Given the description of an element on the screen output the (x, y) to click on. 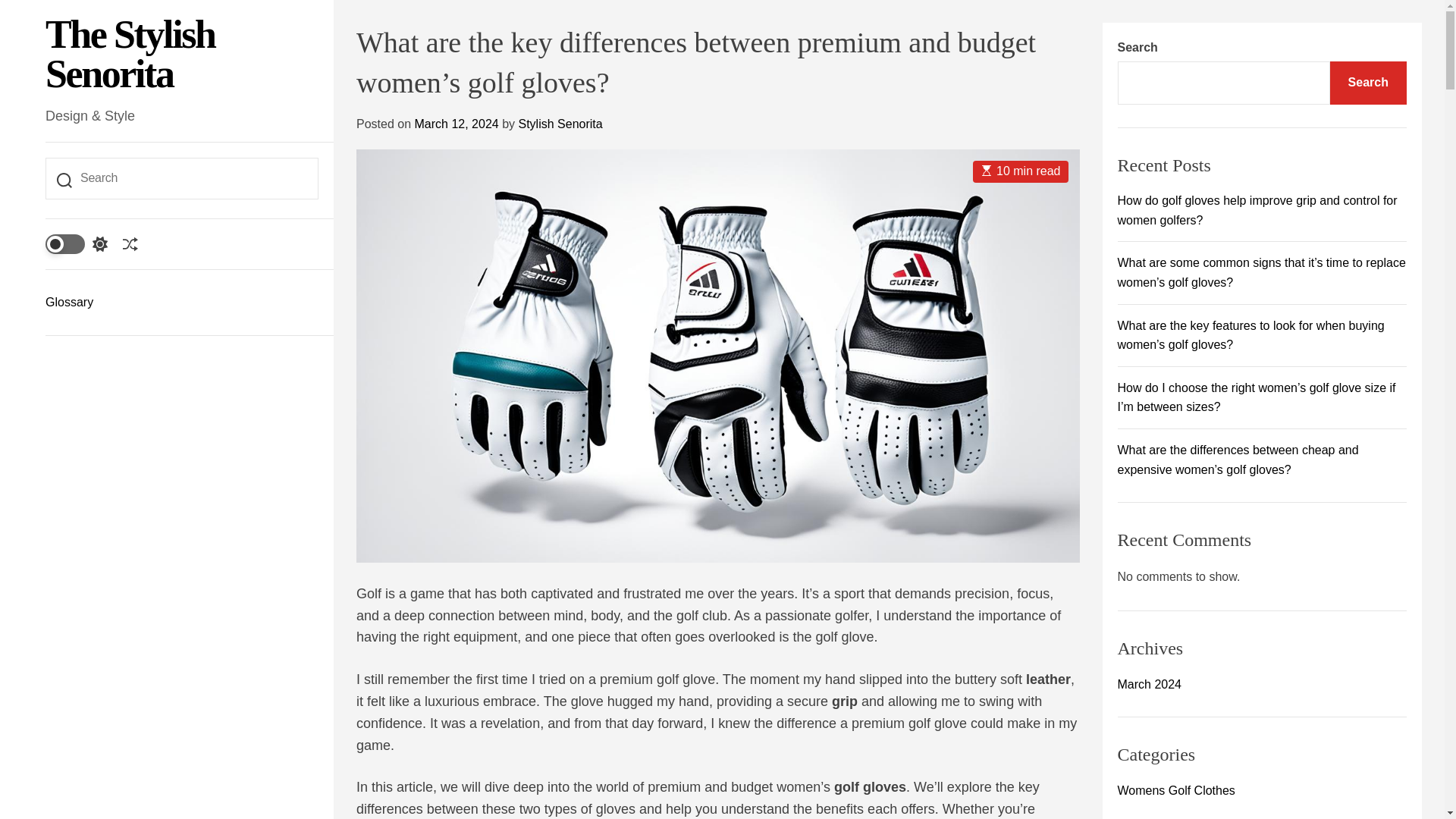
Stylish Senorita (560, 123)
Shuffle (130, 243)
March 12, 2024 (455, 123)
Glossary (181, 302)
Search (1368, 82)
Switch color mode (76, 243)
The Stylish Senorita (181, 54)
